Given the description of an element on the screen output the (x, y) to click on. 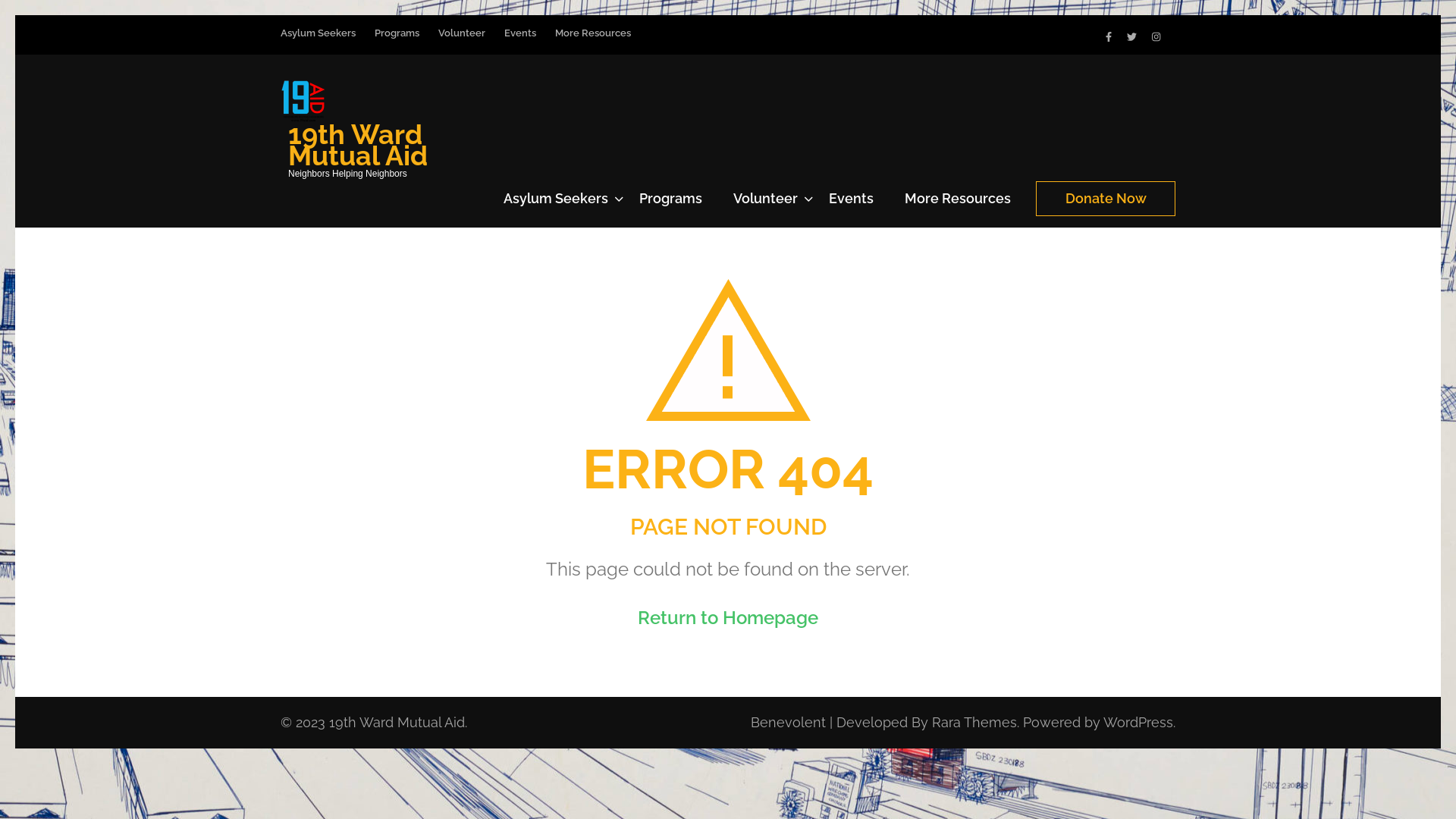
Rara Themes Element type: text (973, 722)
19th Ward Mutual Aid Element type: text (357, 144)
Asylum Seekers Element type: text (555, 204)
Volunteer Element type: text (461, 40)
Asylum Seekers Element type: text (317, 40)
WordPress Element type: text (1138, 722)
Programs Element type: text (396, 40)
Donate Now Element type: text (1105, 197)
Volunteer Element type: text (765, 204)
Twitter Element type: hover (1131, 36)
19th Ward Mutual Aid Element type: text (396, 722)
Return to Homepage Element type: text (727, 617)
Events Element type: text (850, 204)
Instagram Element type: hover (1155, 36)
Facebook Element type: hover (1108, 36)
More Resources Element type: text (592, 40)
Events Element type: text (520, 40)
Programs Element type: text (670, 204)
More Resources Element type: text (957, 204)
Skip to content (Press Enter) Element type: text (14, 14)
